Given the description of an element on the screen output the (x, y) to click on. 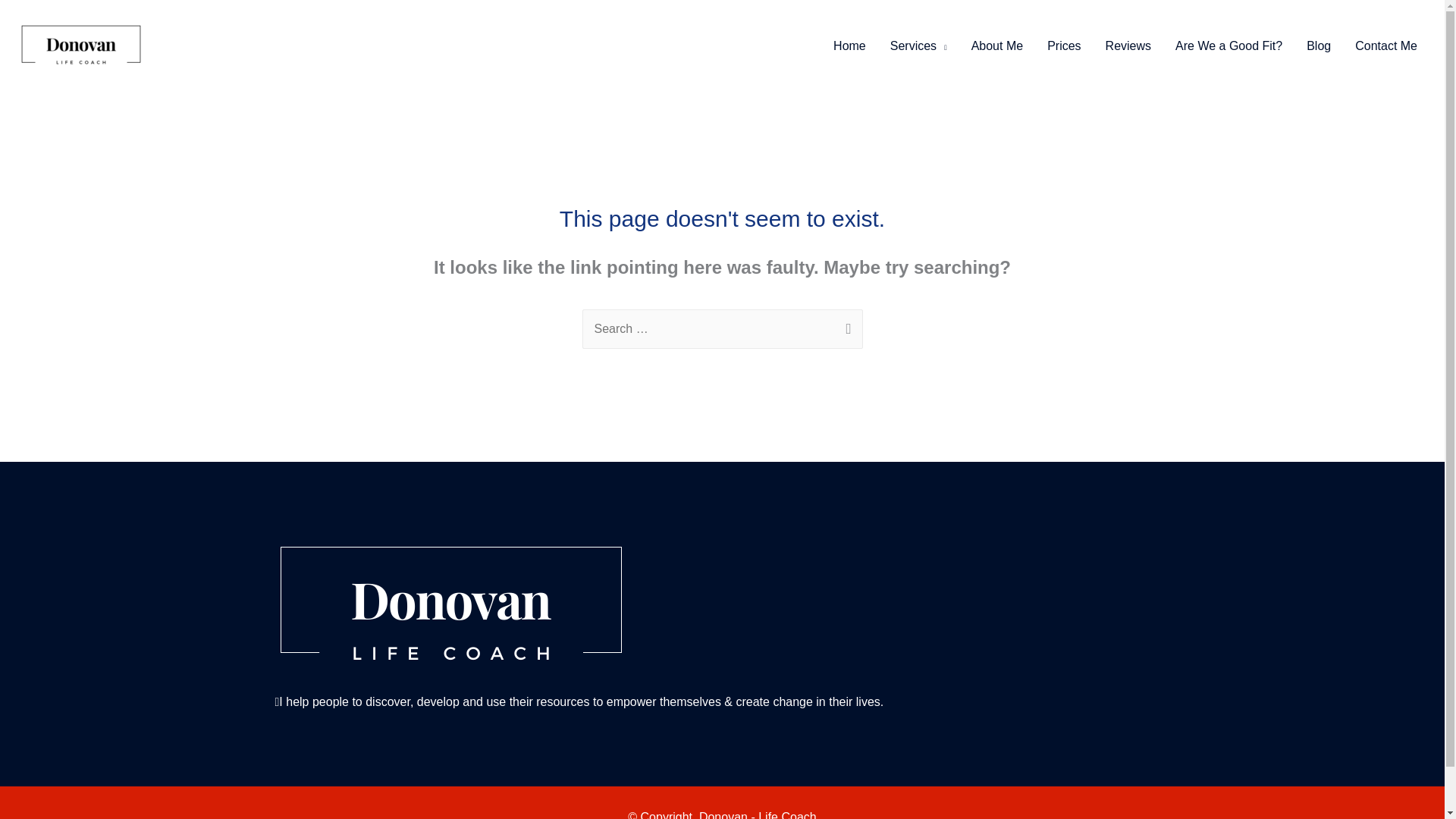
Home (849, 45)
Reviews (1128, 45)
Are We a Good Fit? (1228, 45)
Services (918, 45)
About Me (997, 45)
Blog (1318, 45)
Prices (1064, 45)
Contact Me (1385, 45)
